Given the description of an element on the screen output the (x, y) to click on. 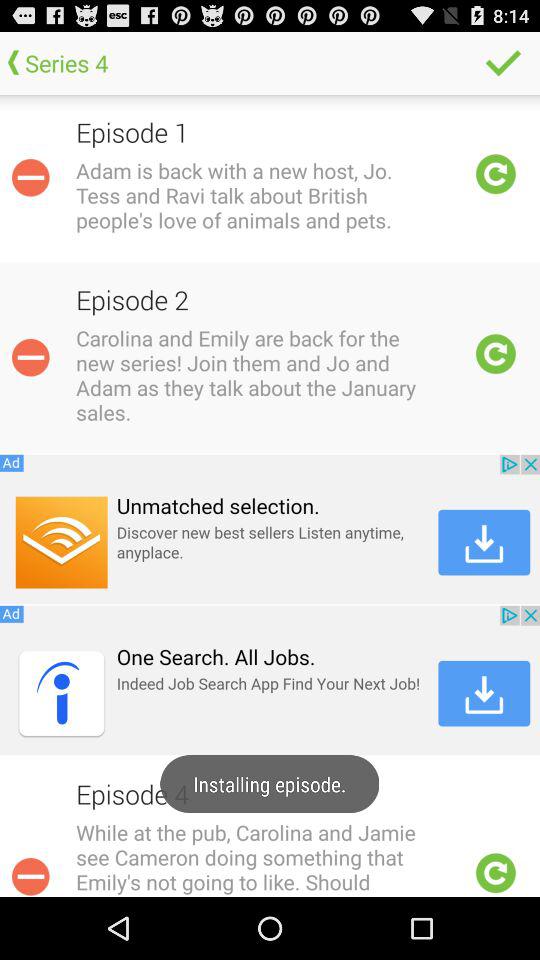
portrait (496, 354)
